Given the description of an element on the screen output the (x, y) to click on. 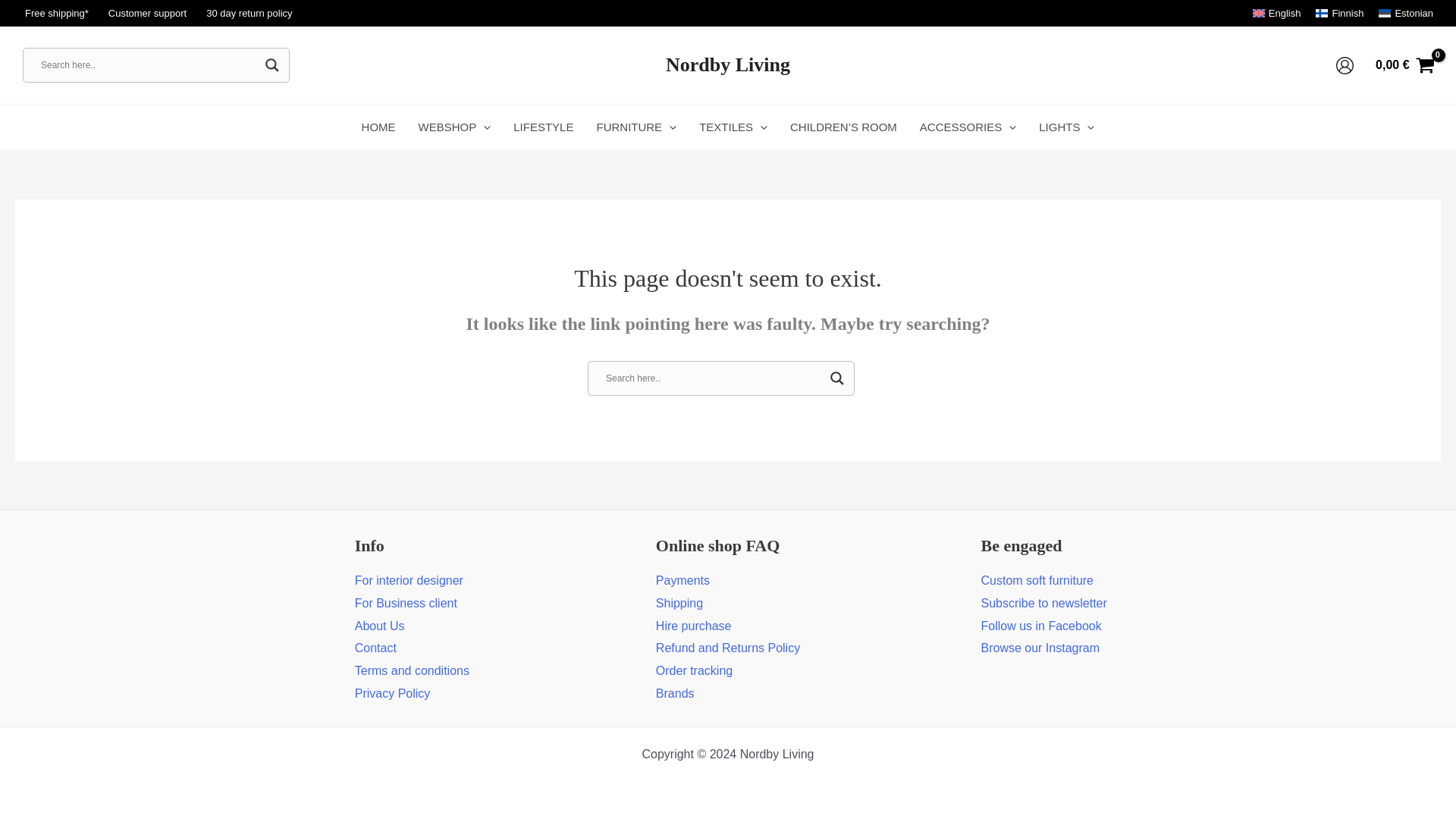
LIFESTYLE (543, 126)
Nordby Living (727, 65)
Estonian (1405, 12)
HOME (378, 126)
WEBSHOP (454, 126)
Finnish (1339, 12)
Customer support (147, 13)
30 day return policy (248, 13)
FURNITURE (636, 126)
English (1276, 12)
